Given the description of an element on the screen output the (x, y) to click on. 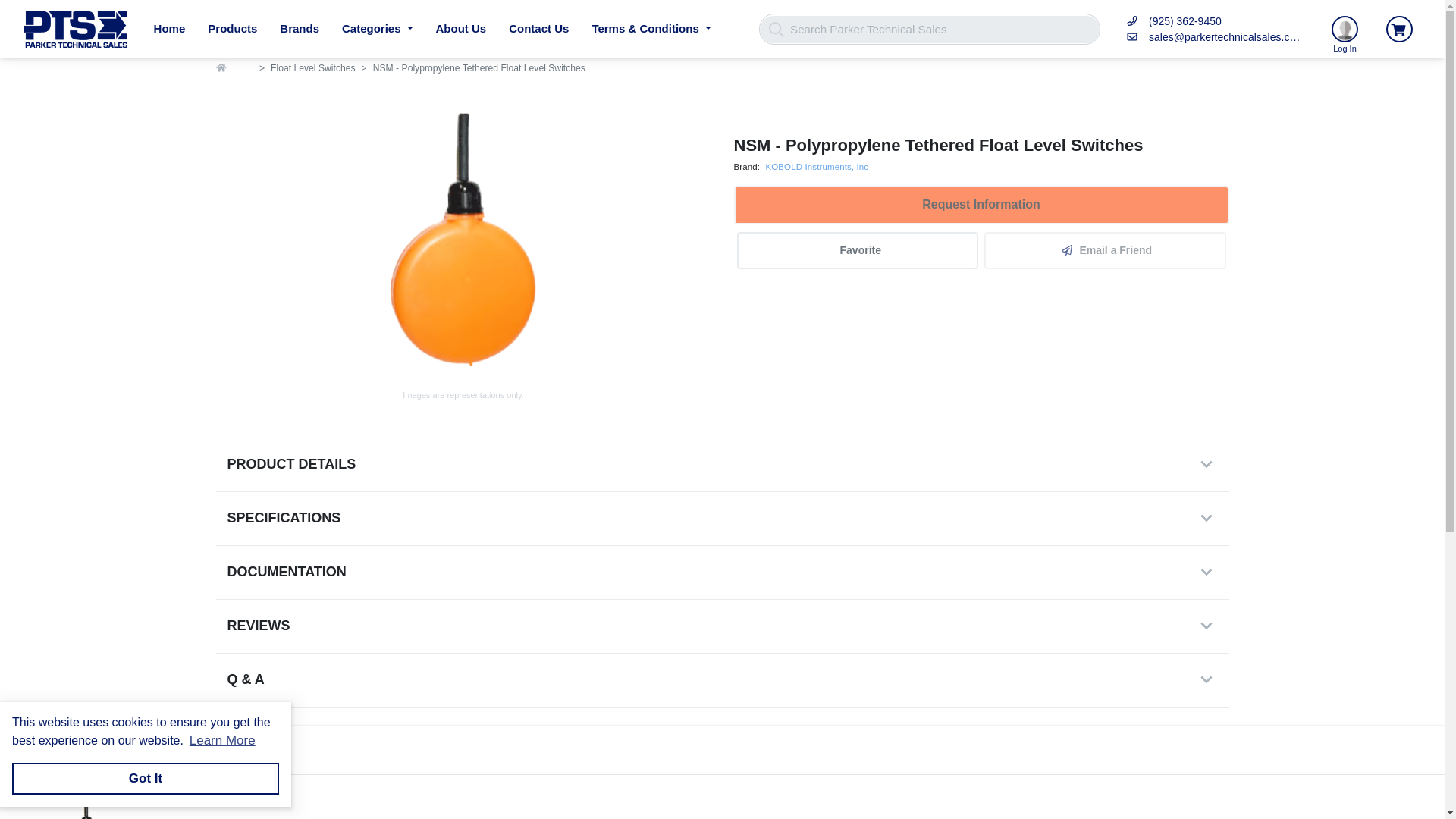
Home (169, 29)
Categories (377, 29)
Email a Friend (1104, 250)
Search (775, 28)
Got It (145, 778)
Products (231, 29)
Brands (298, 29)
Learn More (221, 740)
